Given the description of an element on the screen output the (x, y) to click on. 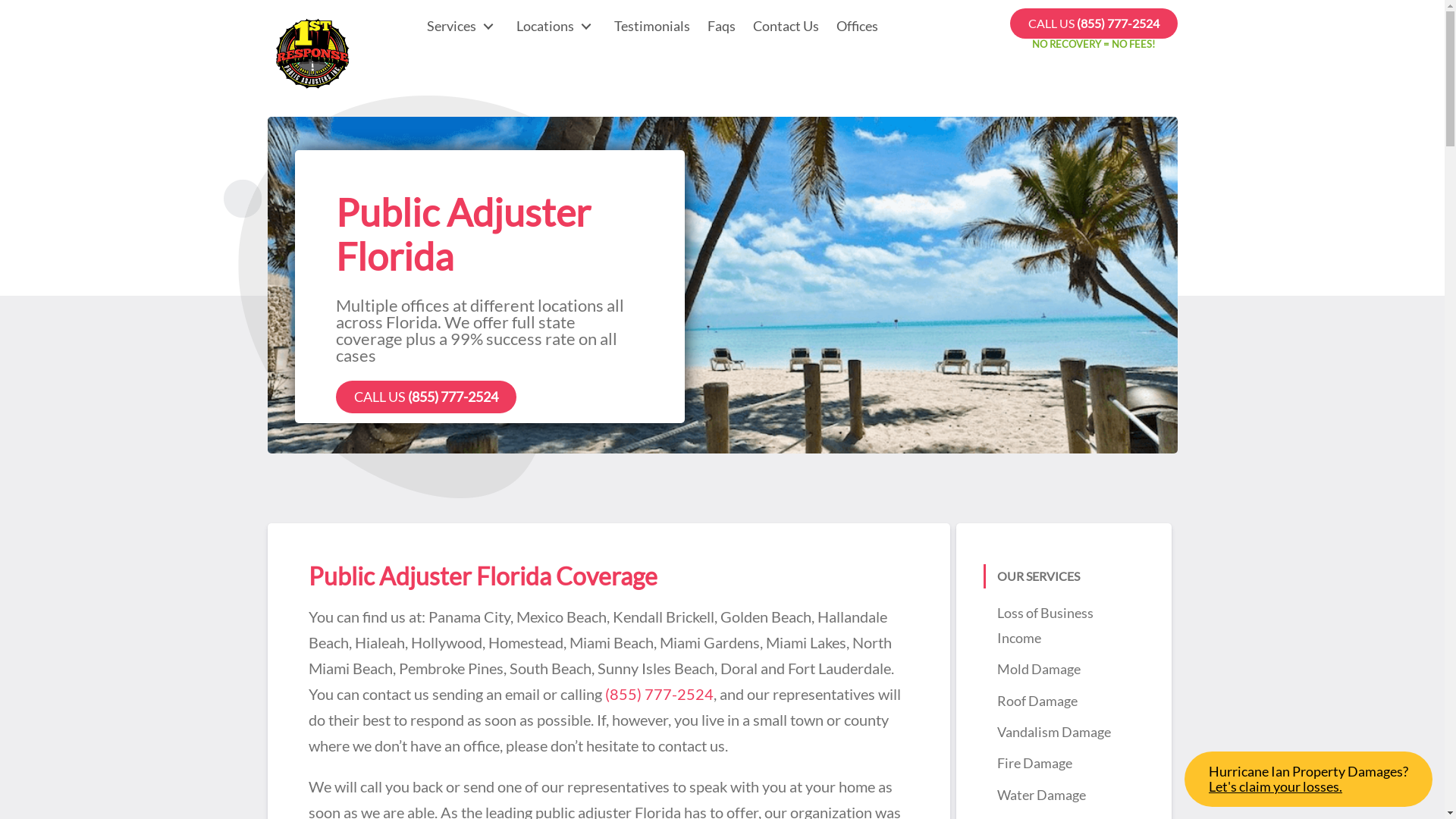
Offices Element type: text (856, 25)
CALL US (855) 777-2524 Element type: text (1093, 23)
Let's claim your losses. Element type: text (1308, 786)
(855) 777-2524 Element type: text (659, 693)
Faqs Element type: text (720, 25)
Contact Us Element type: text (785, 25)
Services Element type: text (462, 25)
Mold Damage Element type: text (1037, 668)
Locations Element type: text (555, 25)
Vandalism Damage Element type: text (1053, 731)
Testimonials Element type: text (652, 25)
Roof Damage Element type: text (1036, 700)
Loss of Business Income Element type: text (1044, 624)
Fire Damage Element type: text (1033, 762)
Water Damage Element type: text (1040, 794)
CALL US (855) 777-2524 Element type: text (425, 396)
